Given the description of an element on the screen output the (x, y) to click on. 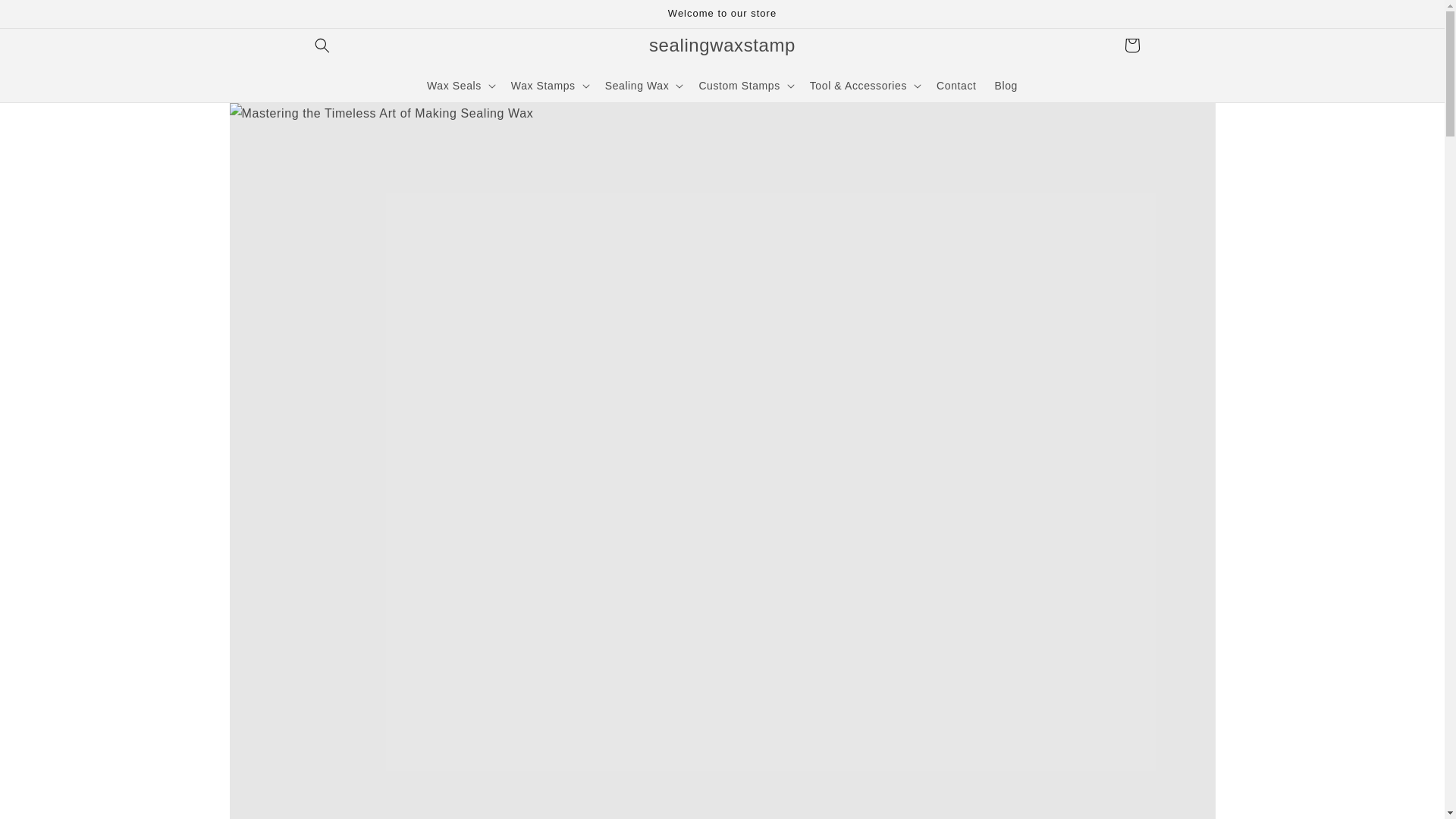
sealingwaxstamp (721, 44)
Skip to content (45, 17)
